Given the description of an element on the screen output the (x, y) to click on. 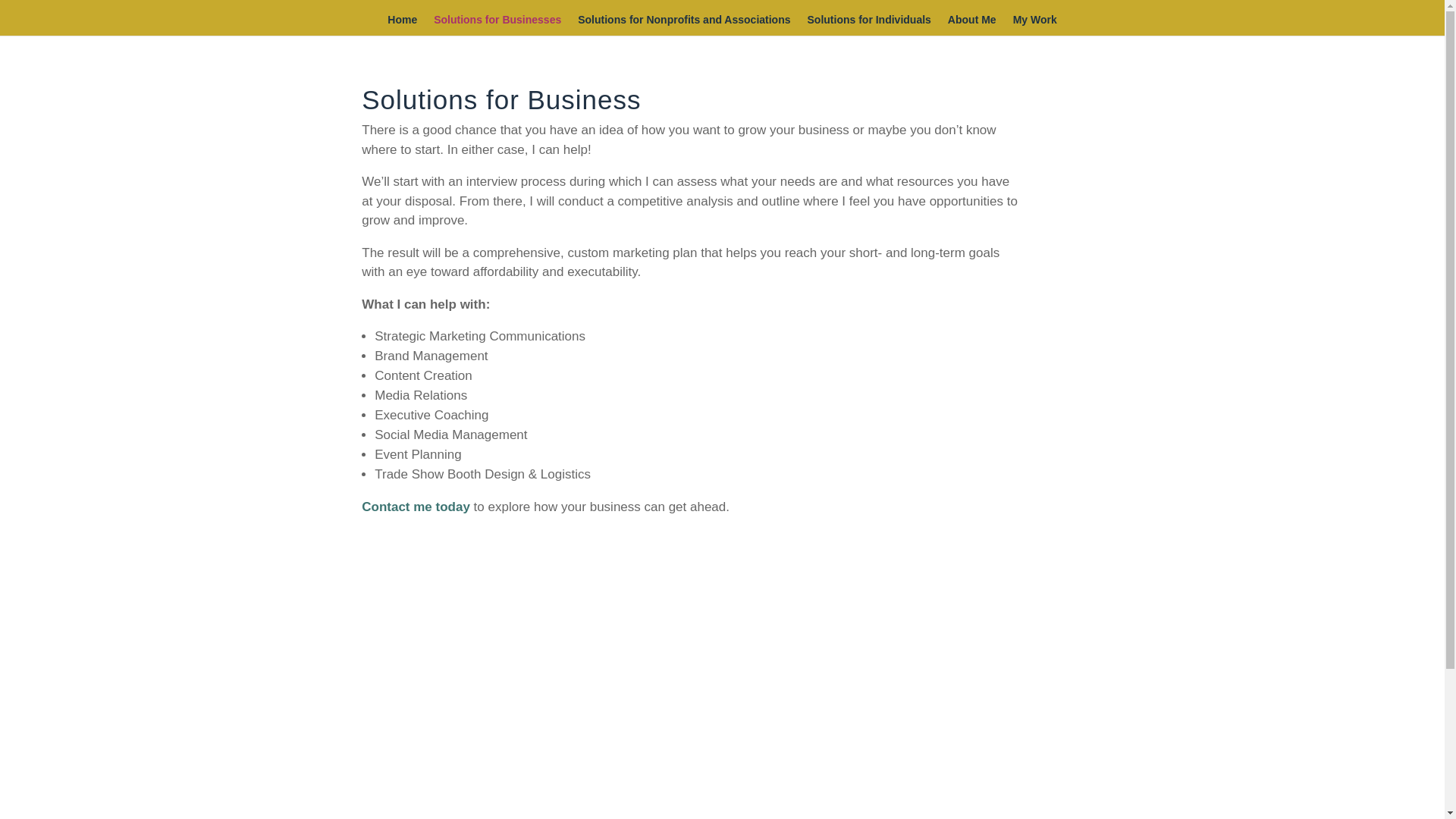
About Me (971, 25)
Contact me today (415, 506)
Solutions for Businesses (496, 25)
Solutions for Individuals (869, 25)
Solutions for Nonprofits and Associations (684, 25)
Home (401, 25)
My Work (1035, 25)
